Given the description of an element on the screen output the (x, y) to click on. 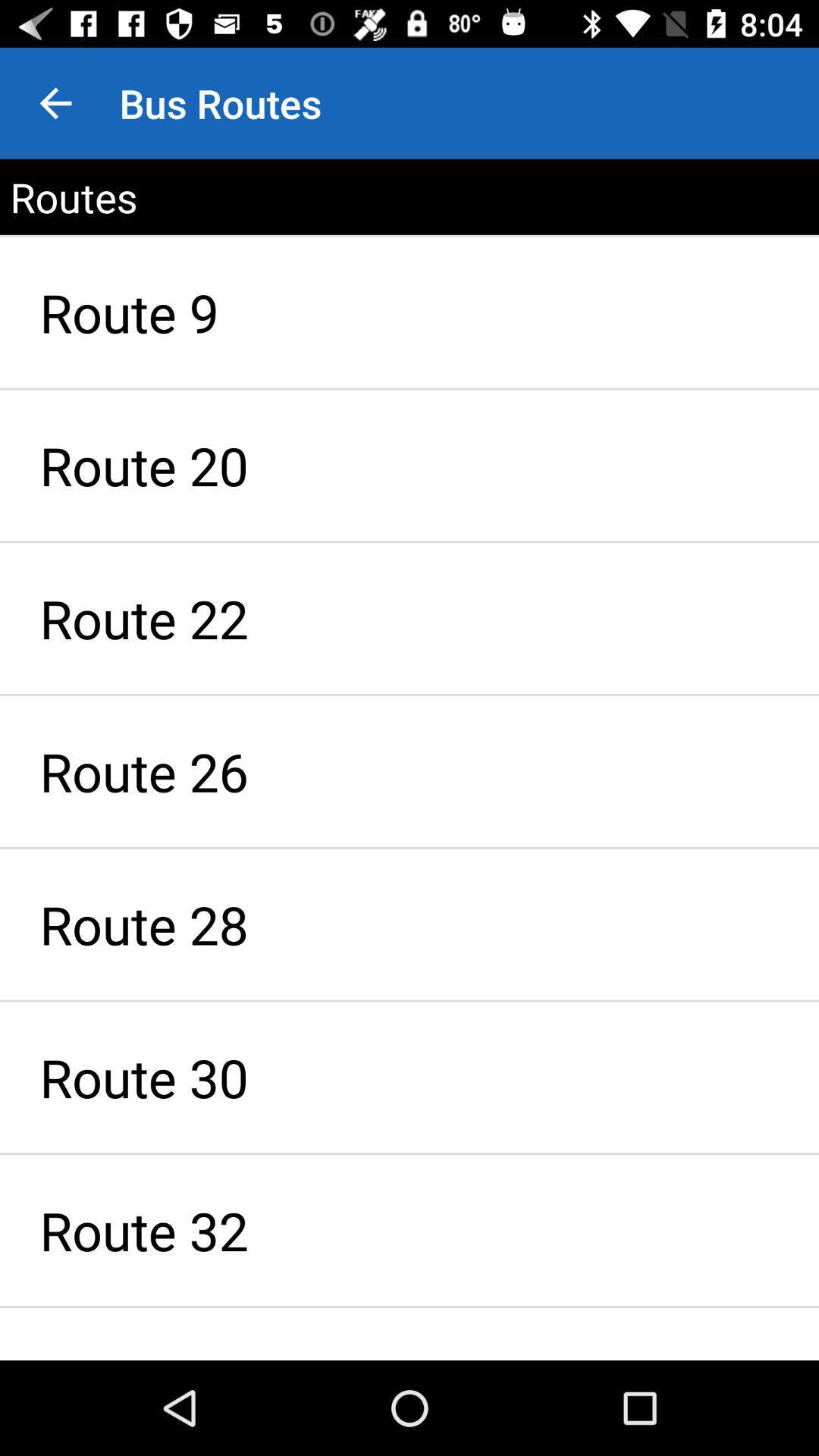
flip until the route 30 item (409, 1077)
